Given the description of an element on the screen output the (x, y) to click on. 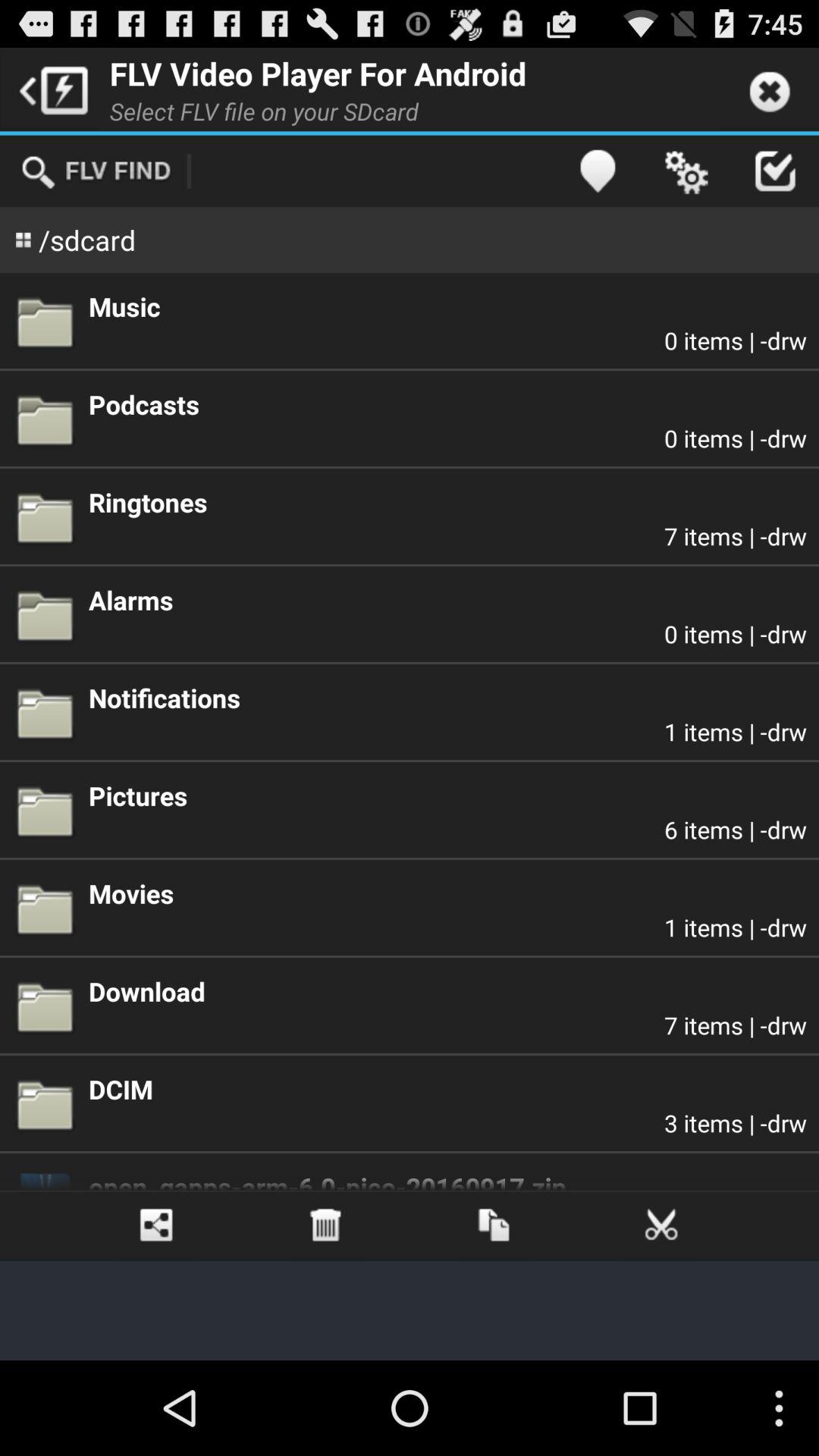
choose the icon to the left of flv video player item (49, 89)
